Given the description of an element on the screen output the (x, y) to click on. 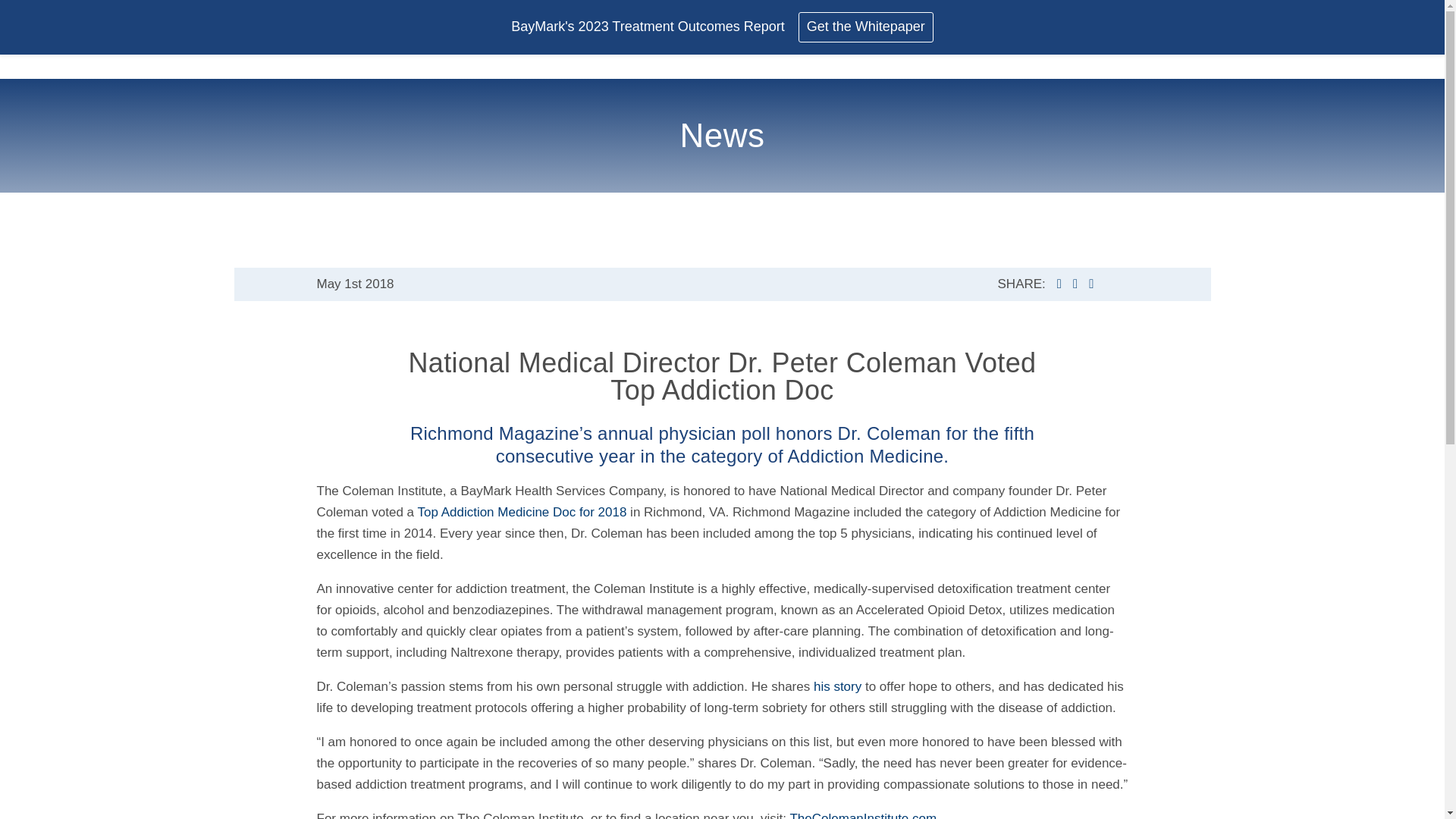
Top Addiction Medicine Doc for 2018 (521, 512)
TheColemanInstitute.com (862, 815)
his story (837, 686)
News (977, 14)
Addiction Treatment (838, 15)
About BayMark (665, 15)
Locations (1171, 15)
Careers (1079, 15)
